Given the description of an element on the screen output the (x, y) to click on. 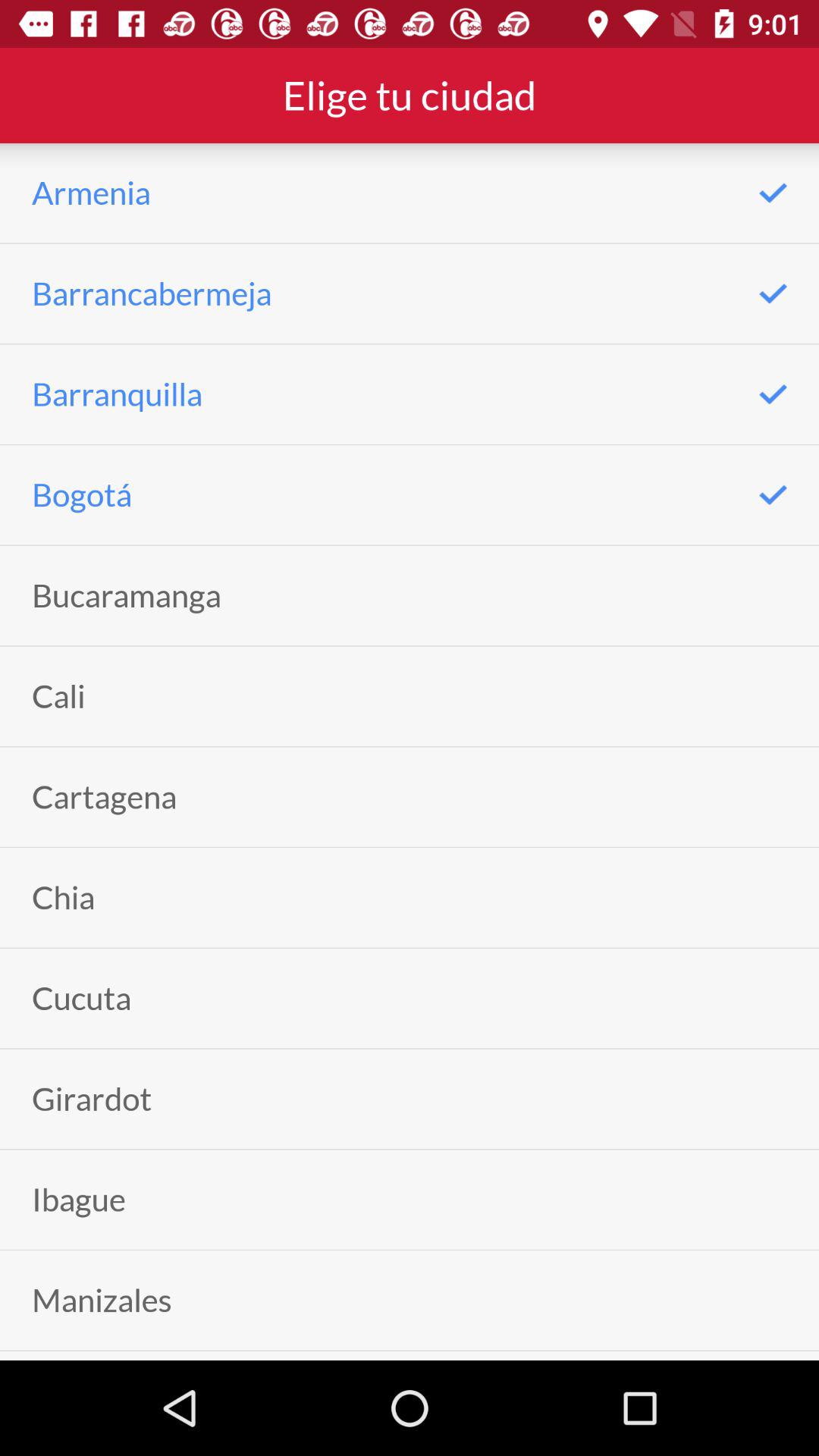
jump until the bucaramanga (126, 595)
